Given the description of an element on the screen output the (x, y) to click on. 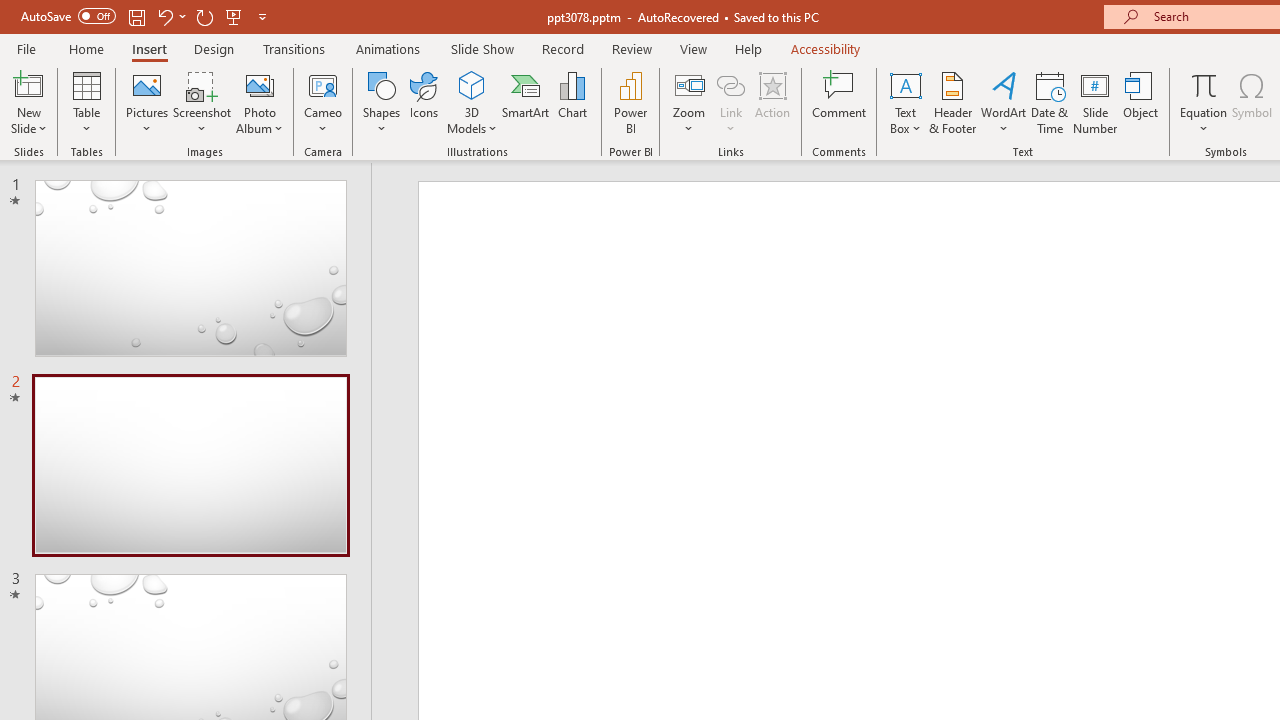
Power BI (630, 102)
Pictures (147, 102)
Screenshot (202, 102)
Link (731, 84)
Icons (424, 102)
